Given the description of an element on the screen output the (x, y) to click on. 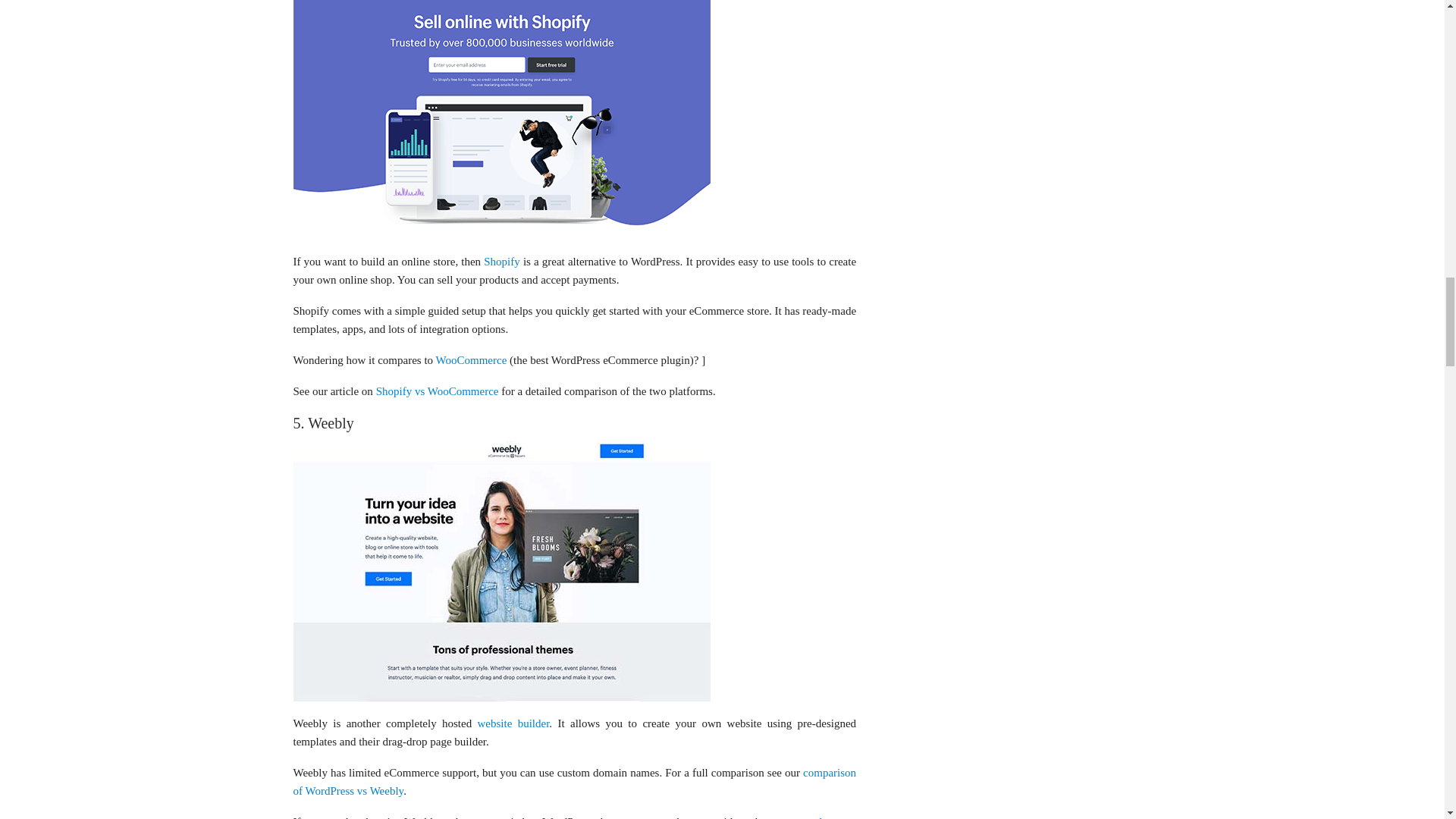
Shopify (501, 119)
Shopify (501, 261)
Weebly (501, 570)
WooCommerce (470, 359)
Shopify (501, 107)
